Given the description of an element on the screen output the (x, y) to click on. 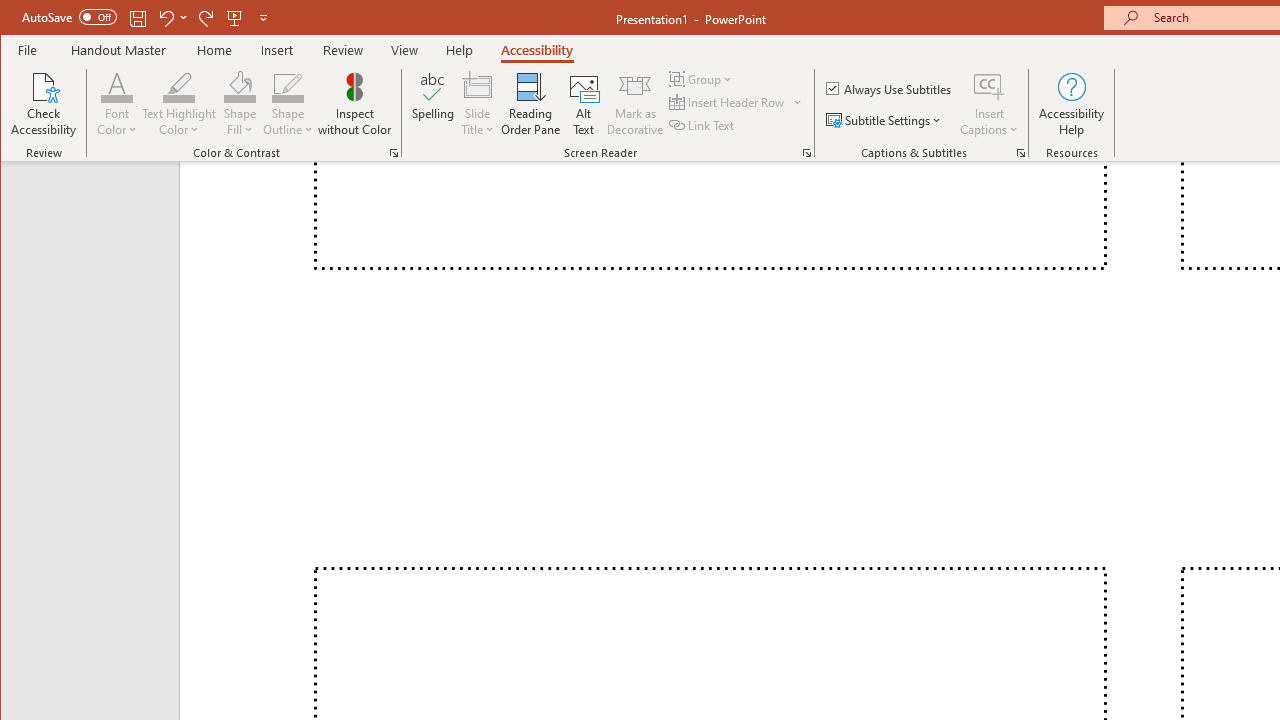
Insert Captions (989, 86)
Shape Outline (288, 104)
Inspect without Color (355, 104)
Redo (206, 17)
Shape Fill (239, 104)
Insert Header Row (735, 101)
Insert (277, 50)
Screen Reader (806, 152)
Help (459, 50)
Reading Order Pane (531, 104)
Text Highlight Color (178, 104)
Text Highlight Color (178, 86)
Alt Text (584, 104)
Home (214, 50)
